Given the description of an element on the screen output the (x, y) to click on. 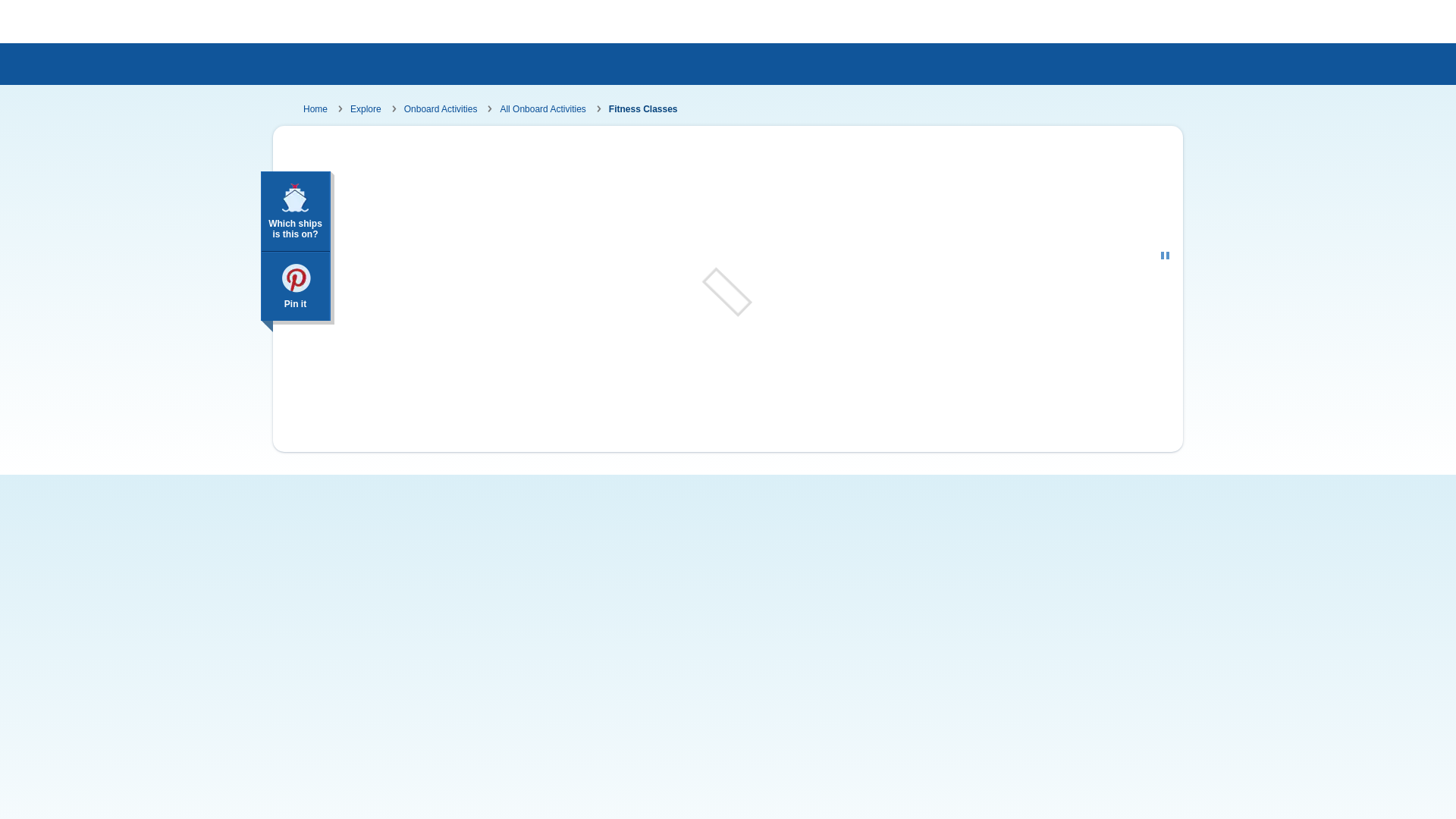
Fitness Classes (643, 109)
Onboard Activities (440, 109)
Explore (365, 109)
All Onboard Activities (542, 109)
Home (314, 109)
Pause animation button (1165, 255)
